Given the description of an element on the screen output the (x, y) to click on. 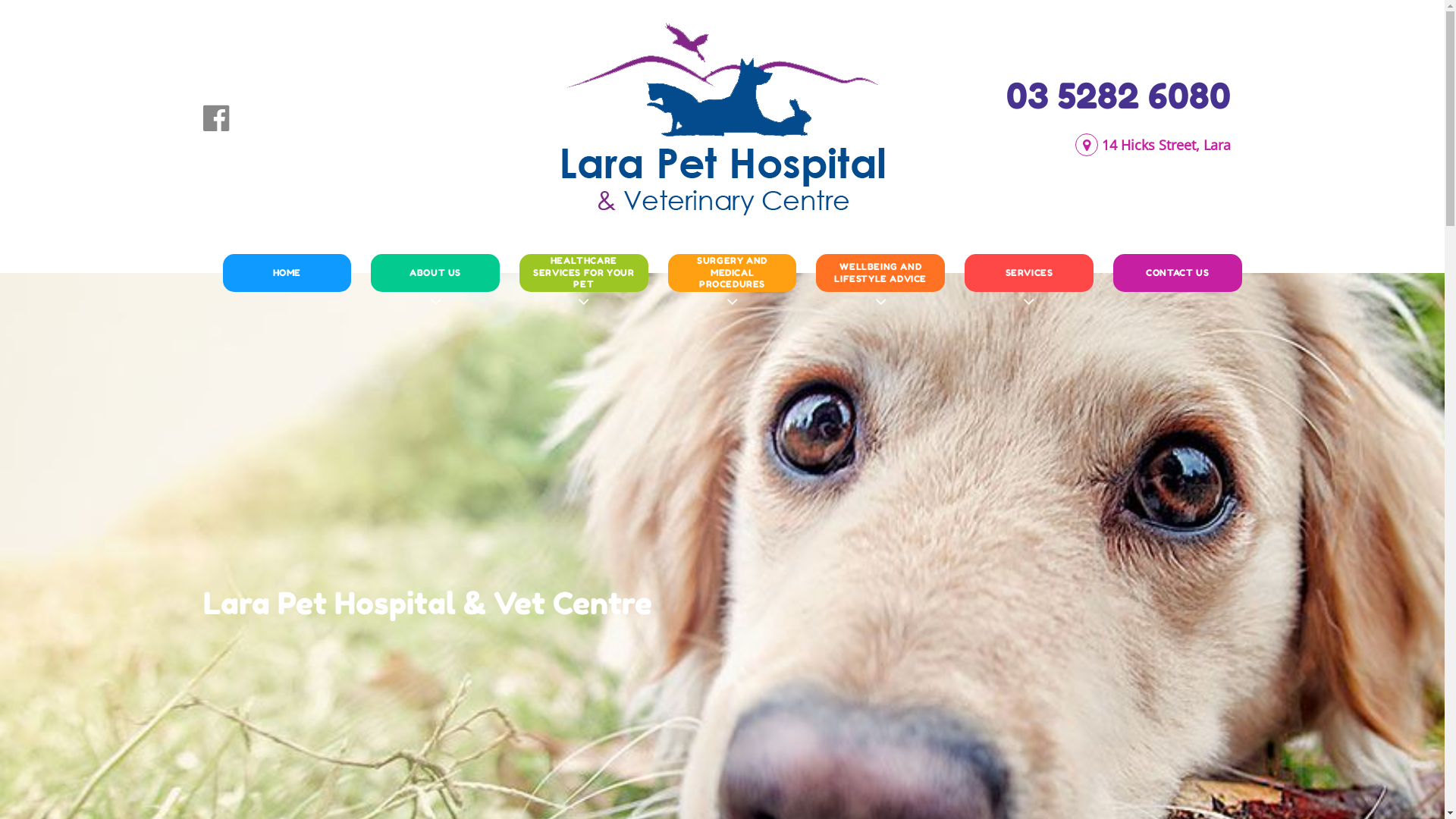
CONTACT US Element type: text (1177, 272)
HEALTHCARE SERVICES FOR YOUR PET Element type: text (583, 272)
WELLBEING AND LIFESTYLE ADVICE Element type: text (880, 272)
03 5282 6080 Element type: text (1117, 95)
SURGERY AND MEDICAL PROCEDURES Element type: text (732, 272)
HOME Element type: text (286, 272)
ABOUT US Element type: text (434, 272)
SERVICES Element type: text (1028, 272)
